Given the description of an element on the screen output the (x, y) to click on. 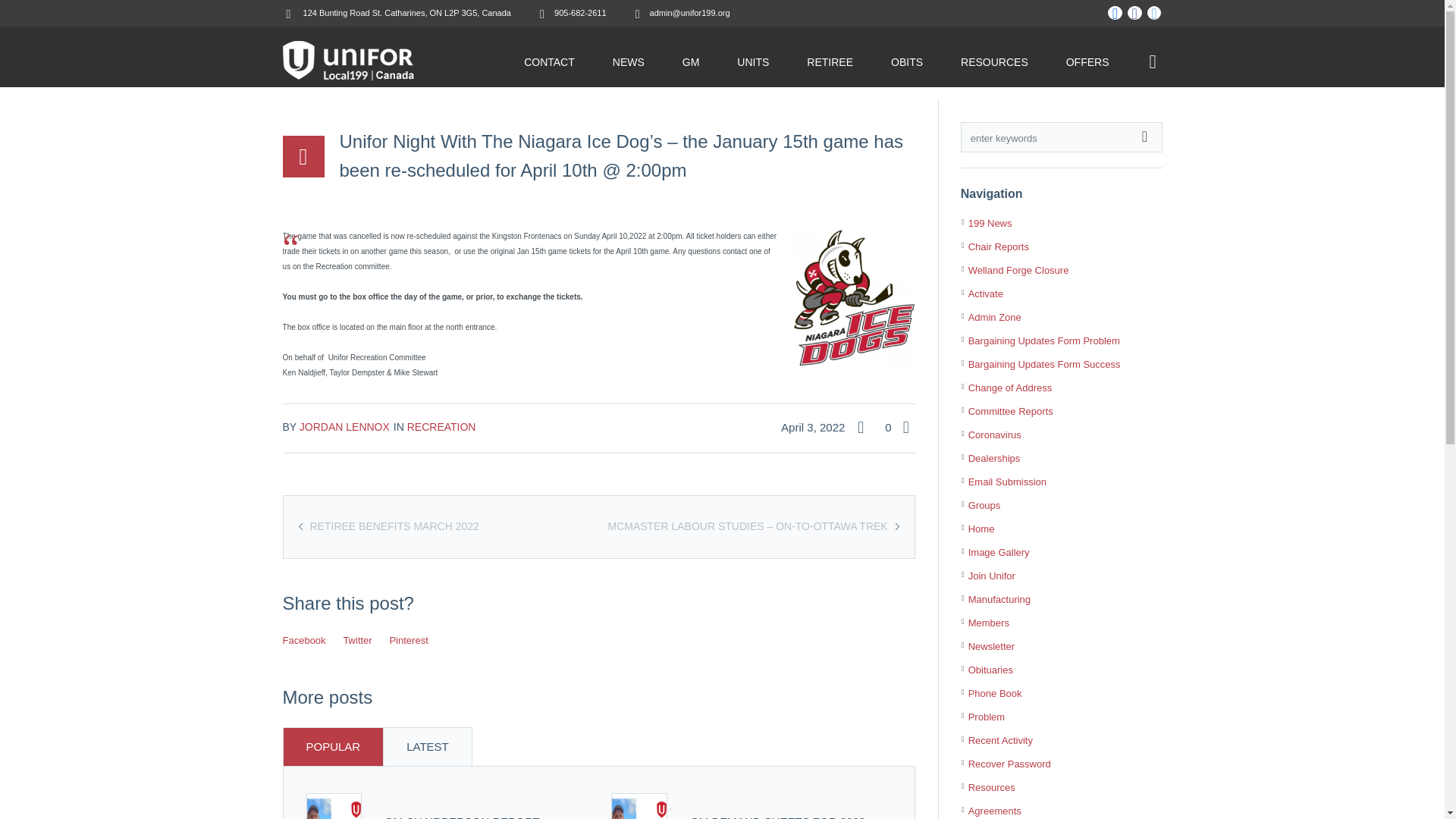
Flickr (1115, 13)
GM DEMAND SHEETS FOR 2023 BARGAINING (777, 816)
April 3, 2022 (815, 427)
GM DEMAND SHEETS FOR 2023 BARGAINING (638, 806)
Posts by JORDAN LENNOX (344, 426)
Facebook (1134, 13)
NEWS (628, 62)
CONTACT (549, 62)
Twitter (1154, 13)
